Given the description of an element on the screen output the (x, y) to click on. 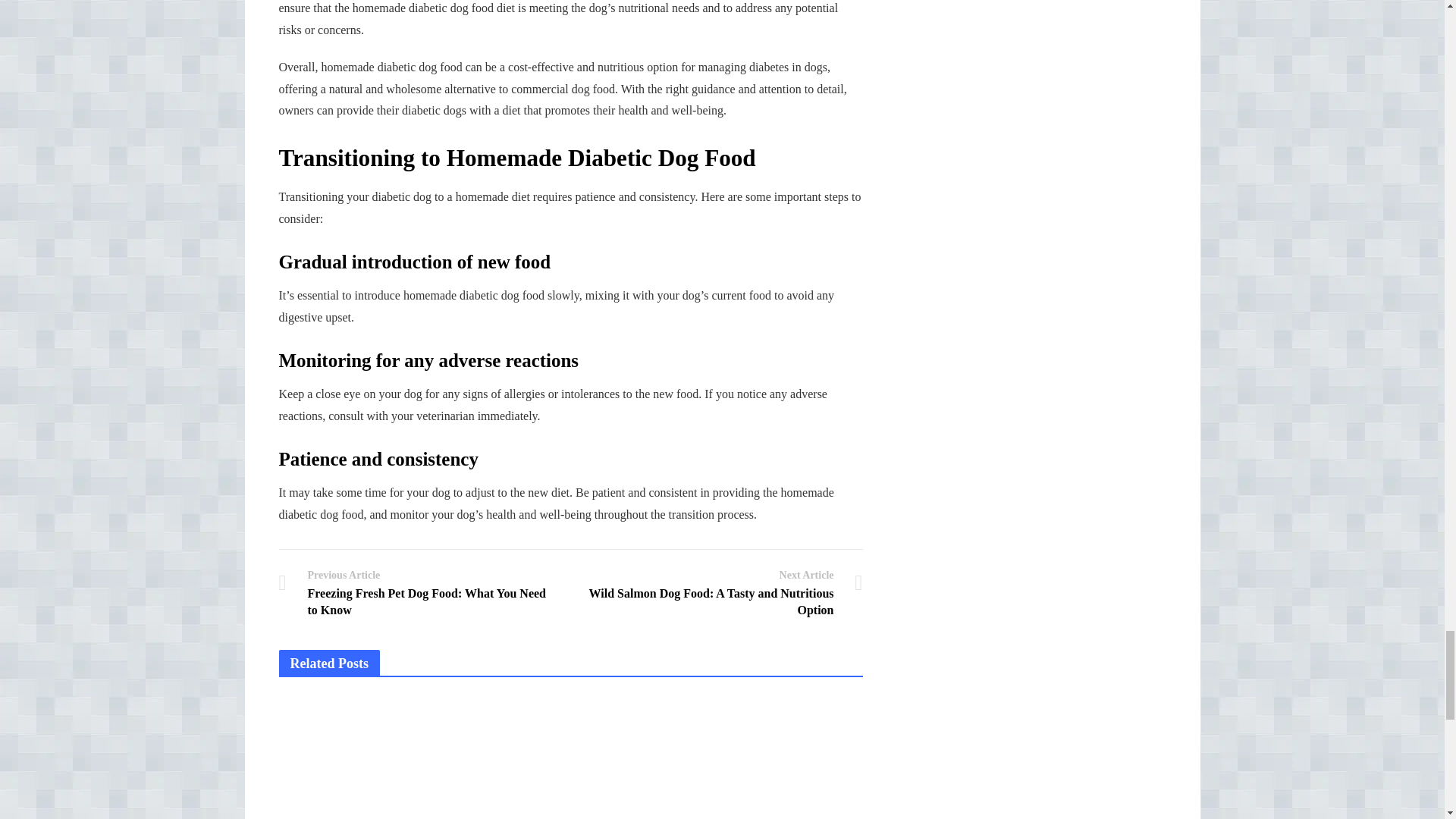
The Ultimate Kirkland Puppy Food Feeding Guide (570, 757)
Is Aldi Dog Food Good? A Comprehensive Review (772, 757)
